Given the description of an element on the screen output the (x, y) to click on. 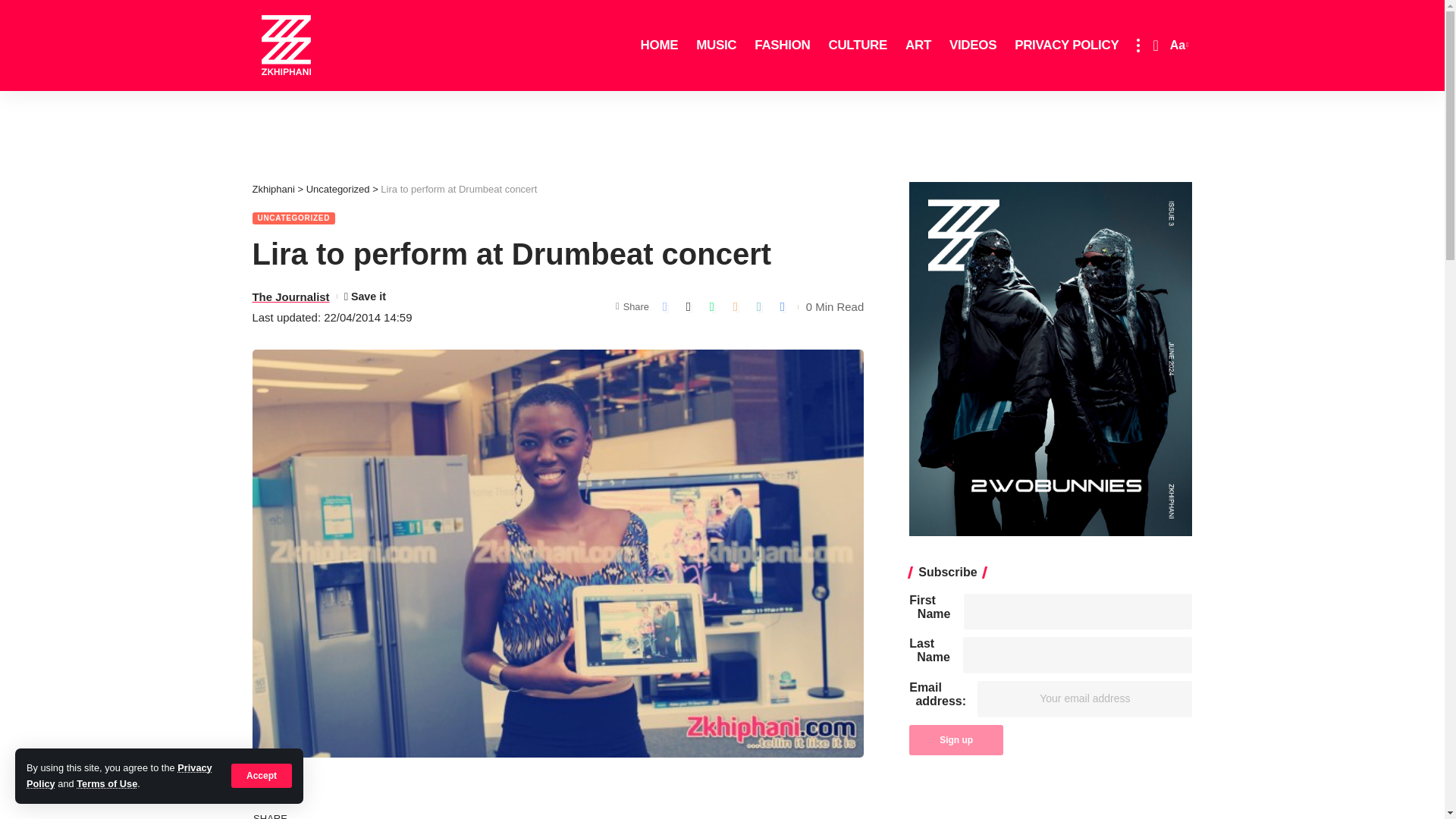
Privacy Policy (119, 775)
Go to Zkhiphani. (272, 188)
Aa (1177, 45)
Terms of Use (106, 783)
FASHION (781, 45)
Accept (261, 775)
PRIVACY POLICY (1066, 45)
Zkhiphani (285, 45)
Go to the Uncategorized Category archives. (337, 188)
Sign up (955, 739)
CULTURE (857, 45)
MUSIC (716, 45)
VIDEOS (973, 45)
HOME (659, 45)
ART (918, 45)
